Given the description of an element on the screen output the (x, y) to click on. 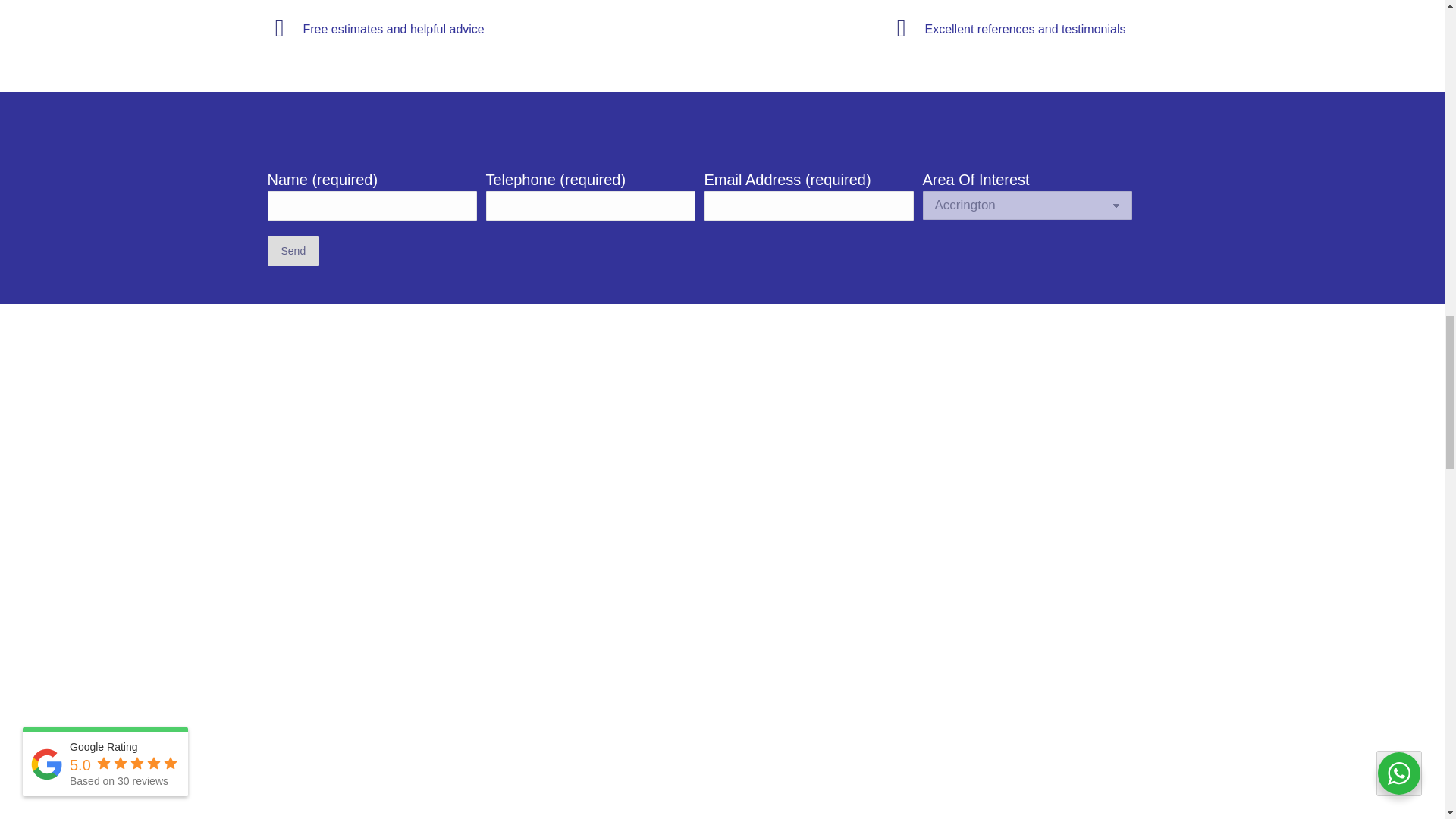
Send (292, 250)
